Given the description of an element on the screen output the (x, y) to click on. 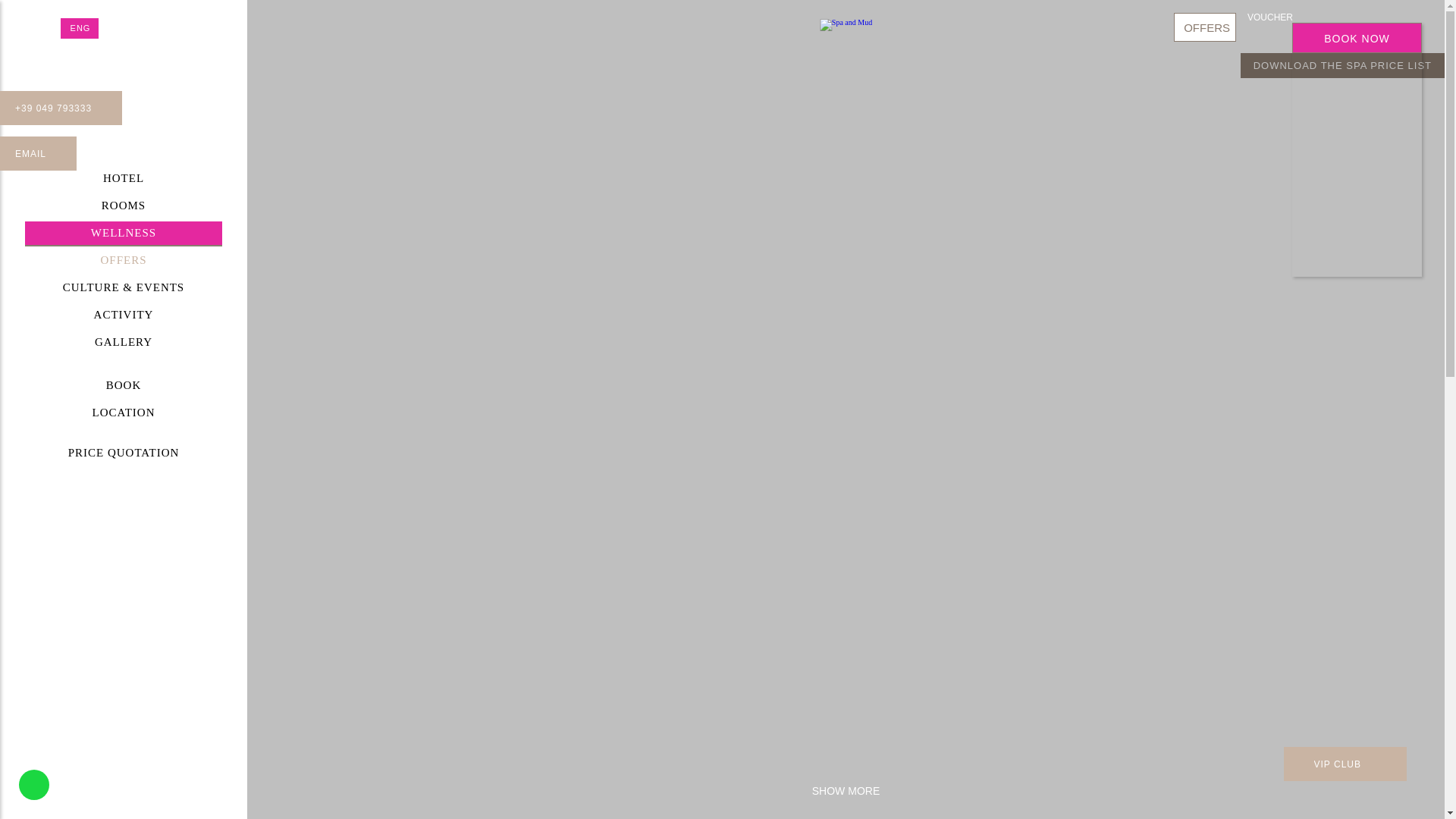
ROOMS (123, 206)
Book (1356, 240)
OFFERS (123, 260)
whatsapp (33, 784)
LOCATION (123, 413)
HOTEL (123, 179)
BOOK (123, 385)
ACTIVITY (123, 315)
WELLNESS (123, 233)
GALLERY (123, 342)
